Given the description of an element on the screen output the (x, y) to click on. 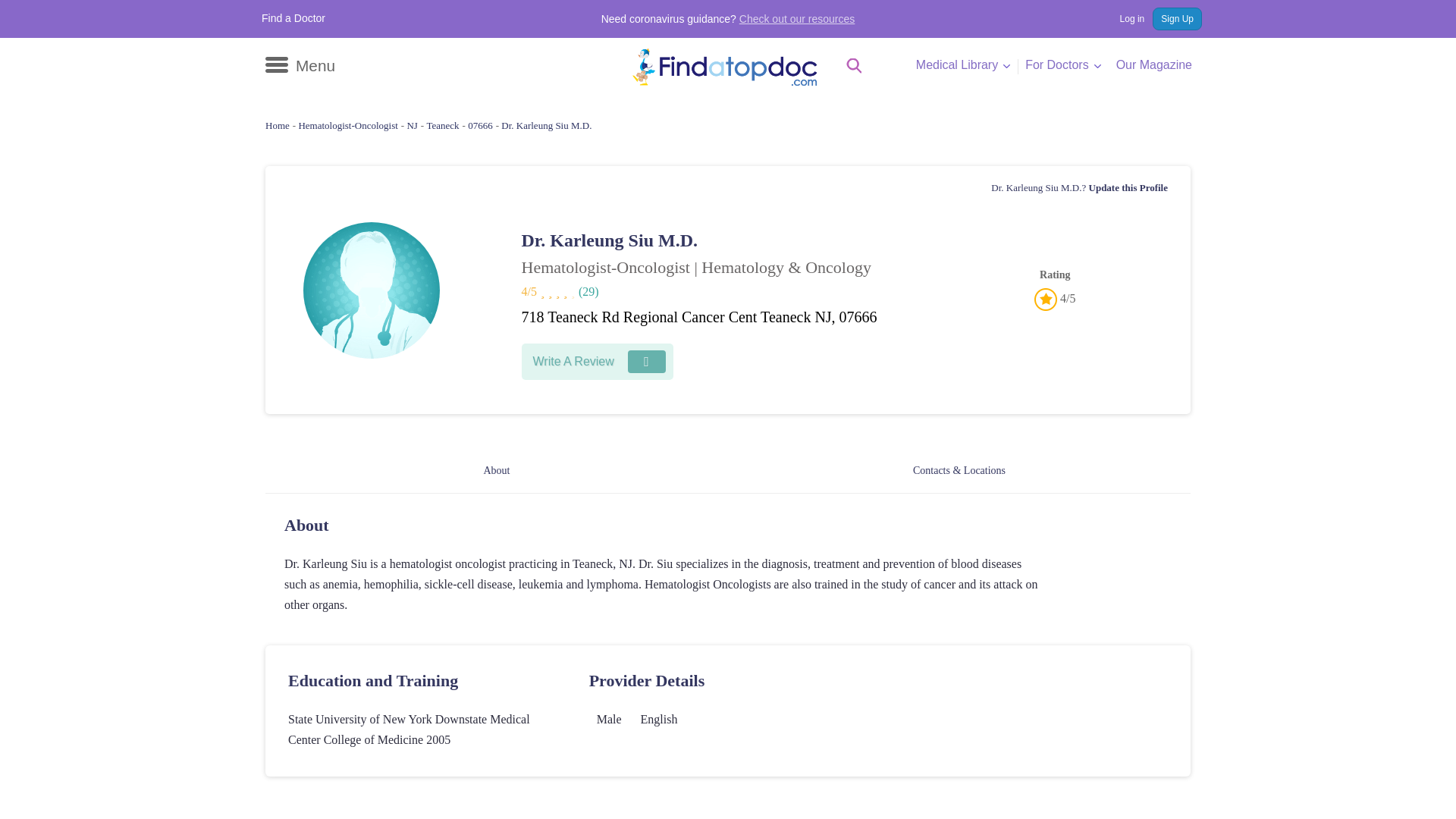
Find a Doctor (293, 17)
Log in (1124, 18)
Menu (299, 65)
Check out our resources (797, 19)
Log in (1124, 18)
Sign Up (1177, 18)
Sign Up (1177, 18)
